Given the description of an element on the screen output the (x, y) to click on. 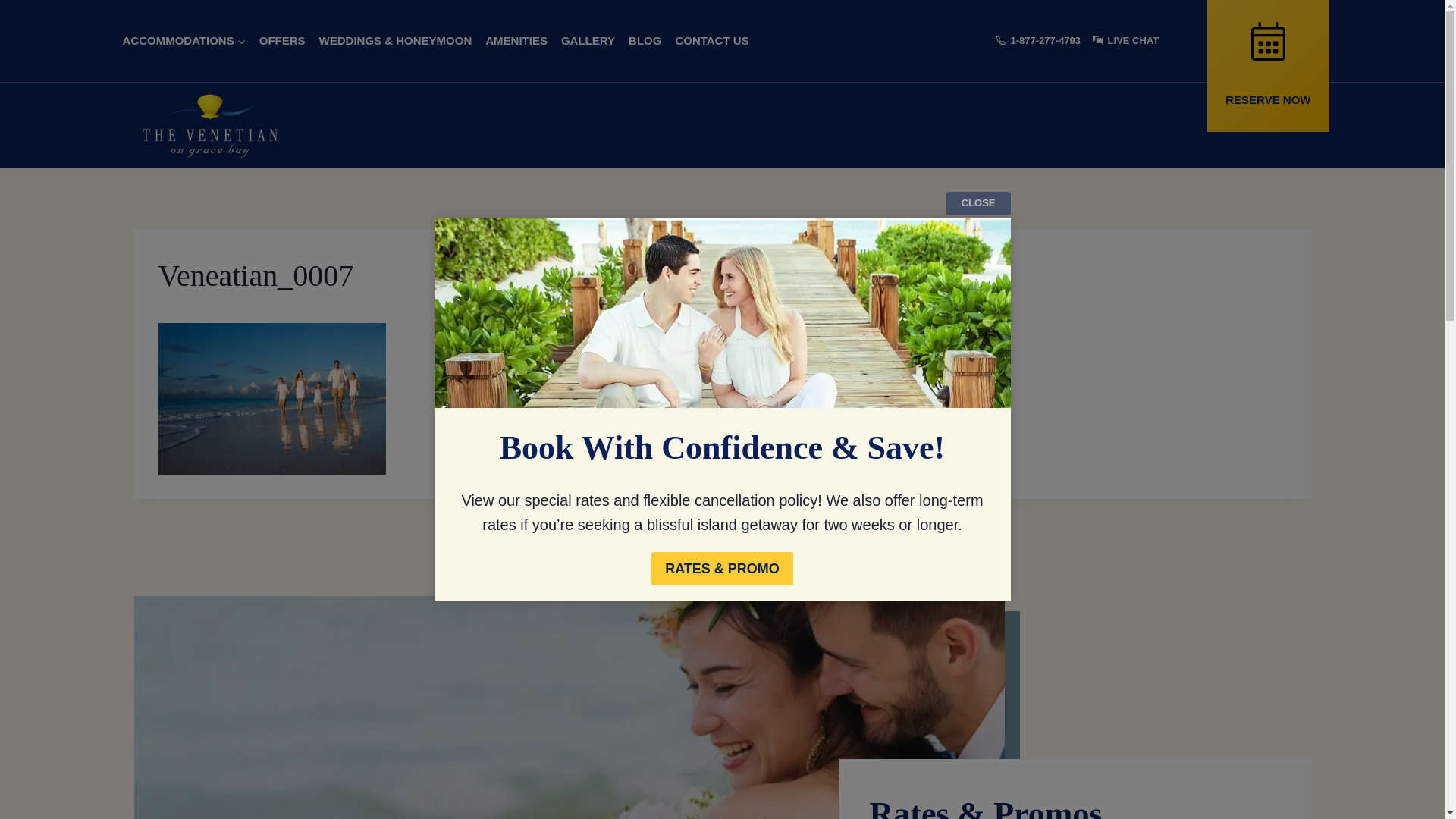
BLOG (644, 40)
OFFERS (282, 40)
LIVE CHAT (1125, 41)
ACCOMMODATIONS (183, 40)
AMENITIES (516, 40)
CONTACT US (711, 40)
1-877-277-4793 (1037, 41)
GALLERY (587, 40)
